Given the description of an element on the screen output the (x, y) to click on. 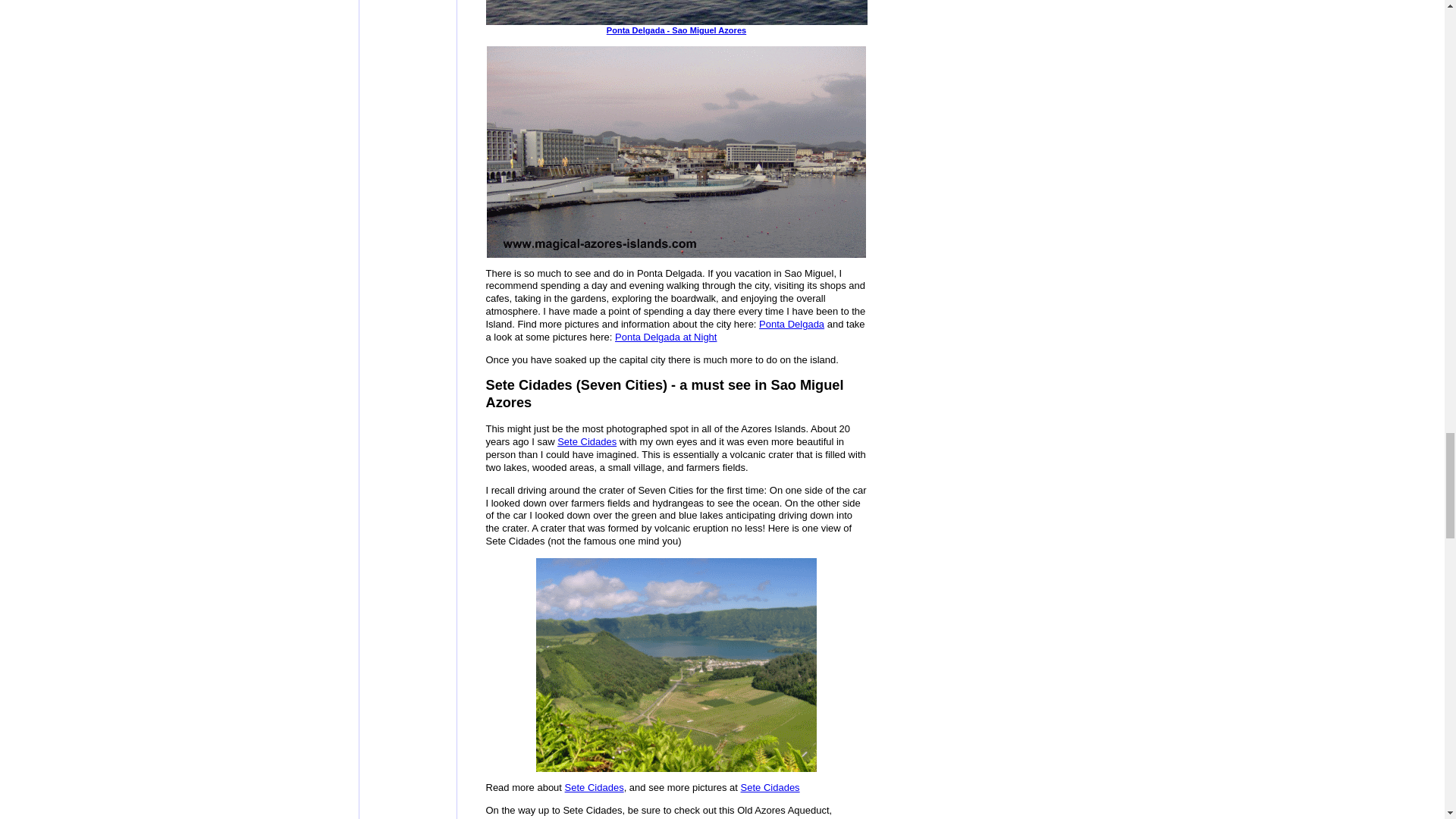
Sao Miguel Azores (675, 664)
Ponta Delgada (791, 324)
Sete Cidades (770, 787)
Ponta Delgada - Sao Miguel Azores (863, 25)
Sete Cidades (586, 441)
Ponta Delgada at Night (665, 337)
Sete Cidades (594, 787)
Ponta Delgada - Sao Miguel Azores (863, 12)
Ponta Delgada - Sao Miguel Azores (863, 25)
